Given the description of an element on the screen output the (x, y) to click on. 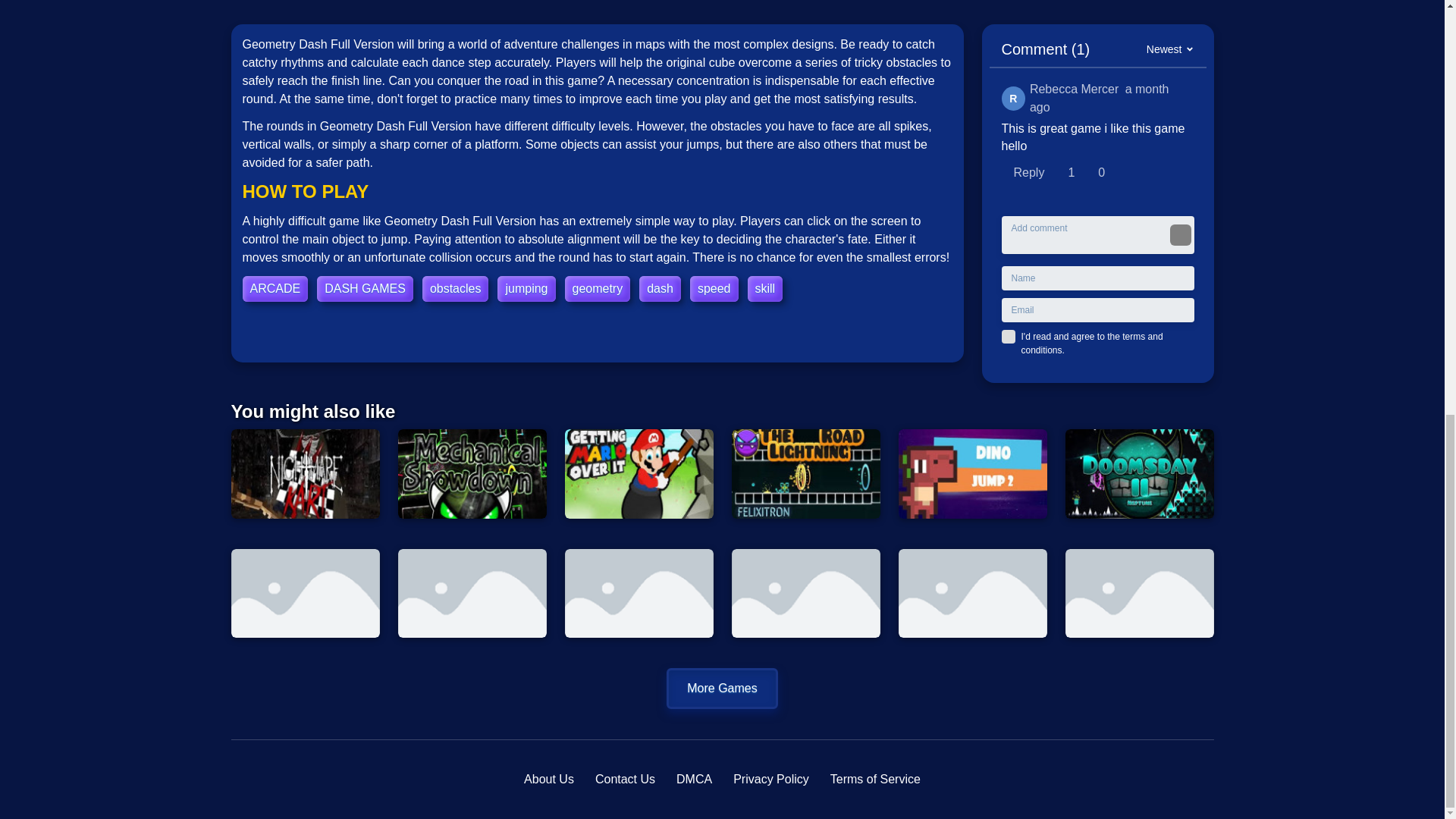
Privacy Policy (771, 779)
Contact Us (625, 779)
DMCA (694, 779)
About Us (548, 779)
Add a comment to this comment (1028, 172)
Terms of Service (874, 779)
Rebecca Mercer (1013, 98)
